Given the description of an element on the screen output the (x, y) to click on. 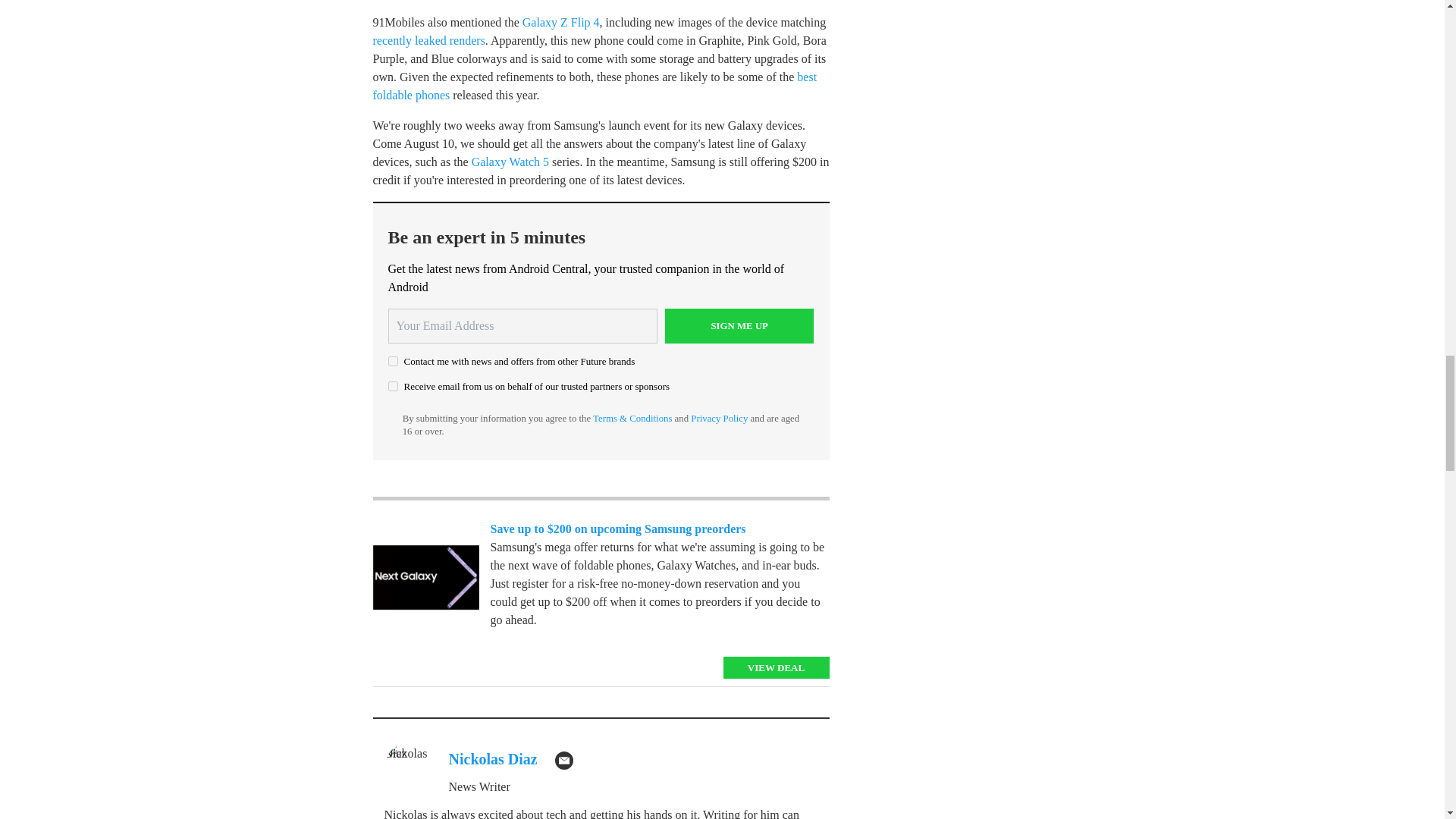
on (392, 361)
Sign me up (739, 325)
on (392, 386)
